Given the description of an element on the screen output the (x, y) to click on. 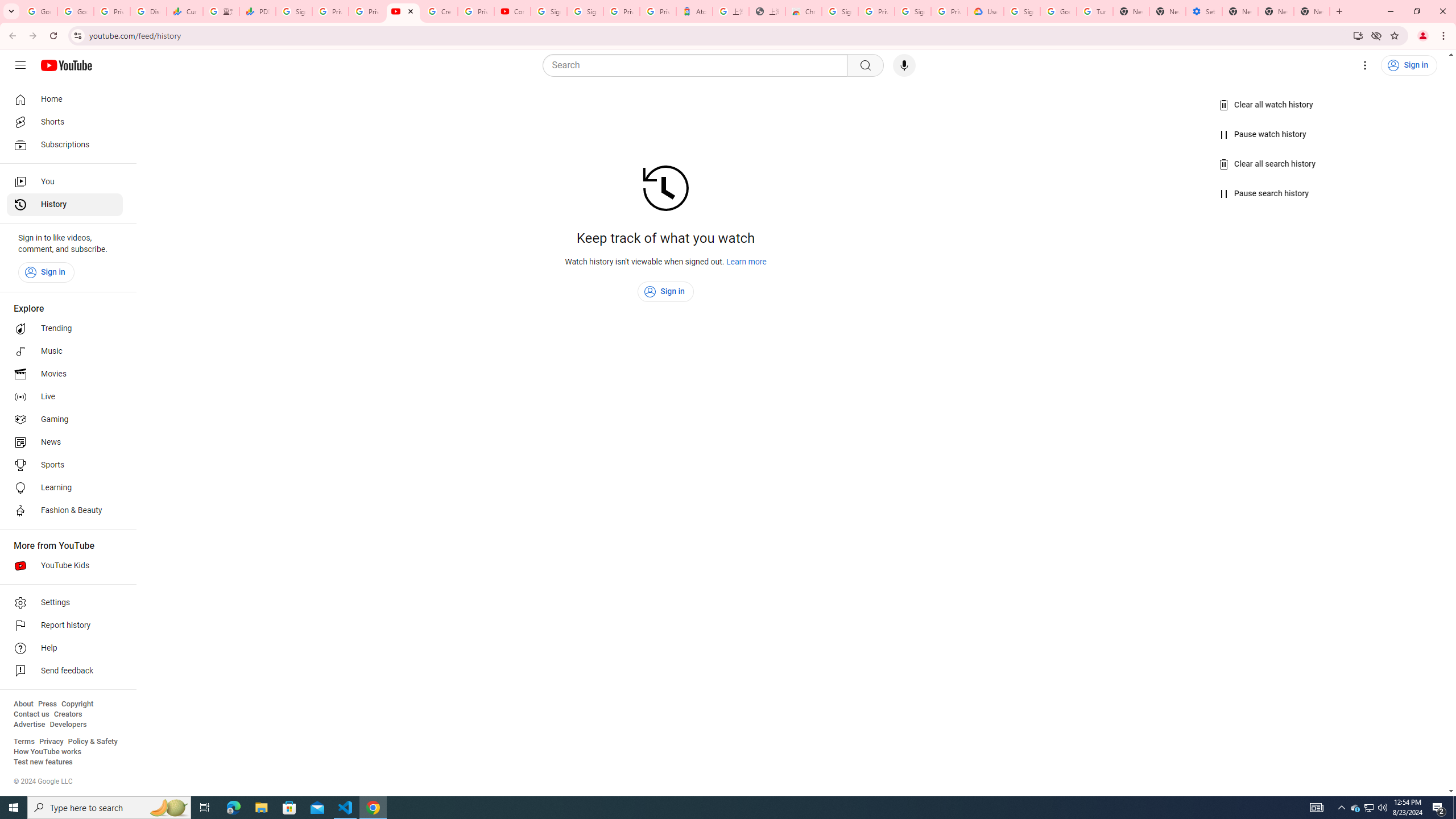
Gaming (64, 419)
Pause watch history (1263, 134)
Turn cookies on or off - Computer - Google Account Help (1094, 11)
Learn more (746, 261)
Privacy (51, 741)
Currencies - Google Finance (184, 11)
Shorts (64, 121)
Terms (23, 741)
Sign in - Google Accounts (585, 11)
Privacy Checkup (366, 11)
Subscriptions (64, 144)
Guide (20, 65)
